Given the description of an element on the screen output the (x, y) to click on. 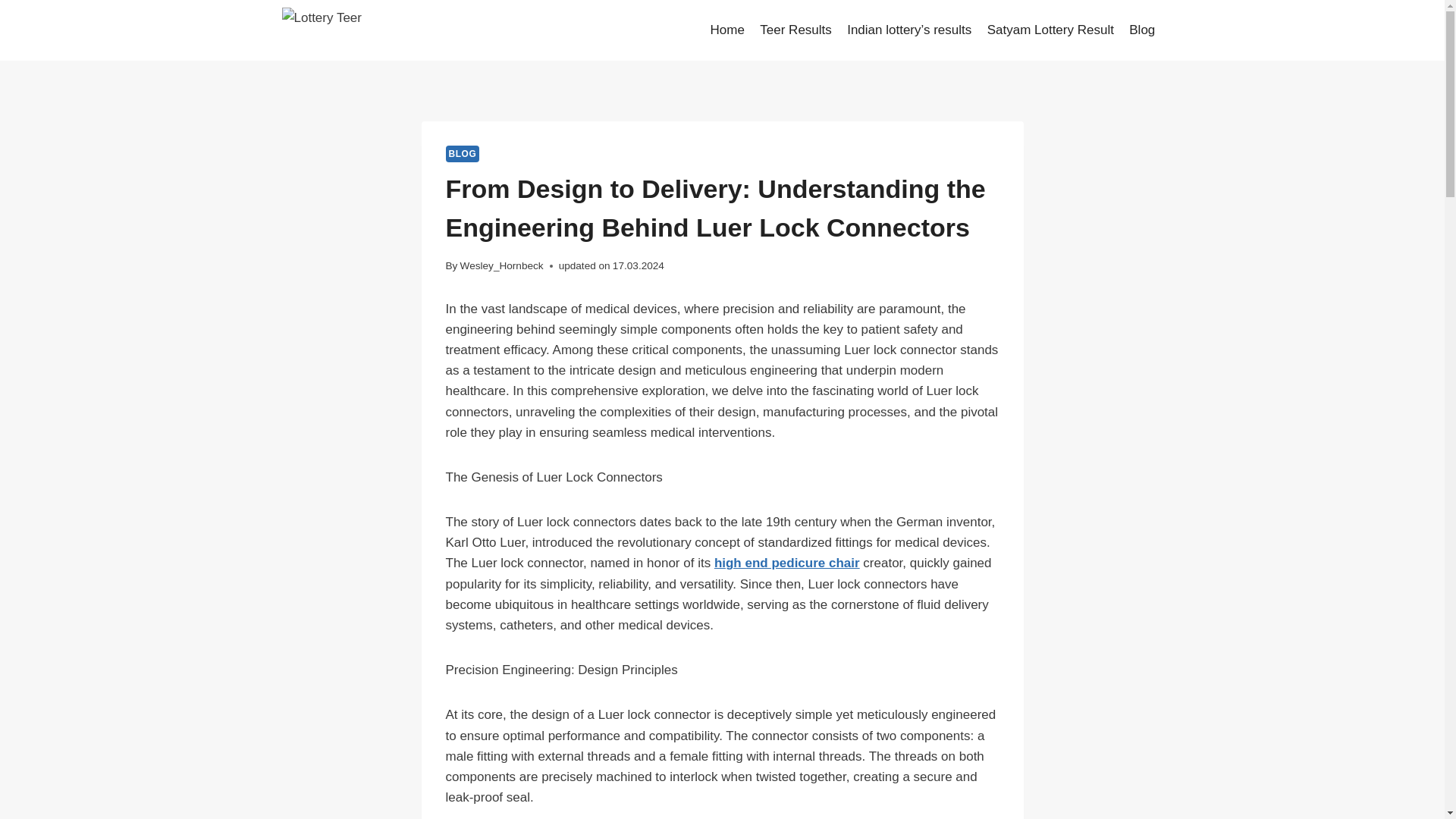
Teer Results (796, 30)
Home (726, 30)
Blog (1141, 30)
Satyam Lottery Result (1049, 30)
high end pedicure chair (787, 563)
BLOG (462, 153)
